Given the description of an element on the screen output the (x, y) to click on. 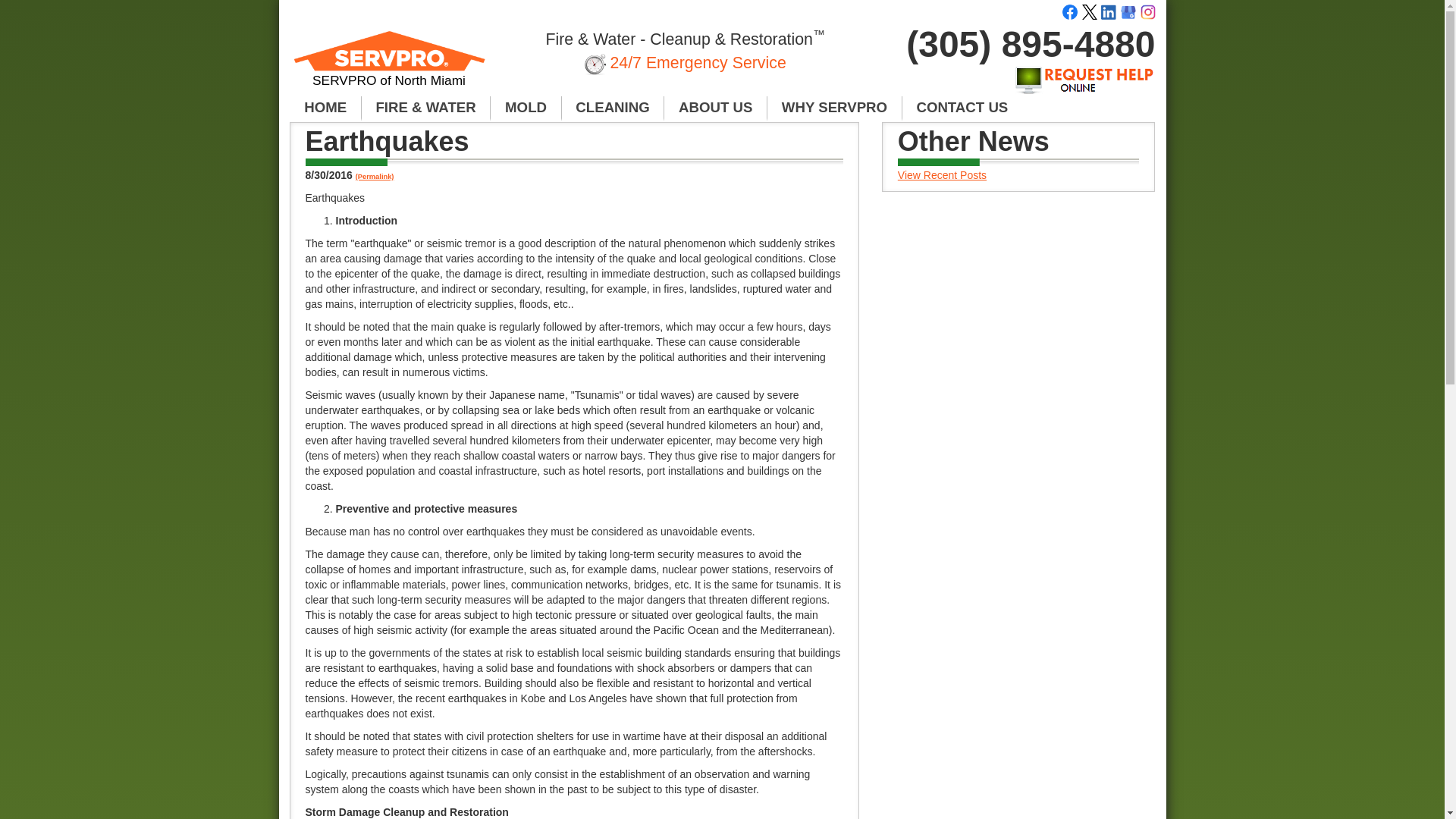
SERVPRO of North Miami (389, 65)
CLEANING (613, 108)
MOLD (525, 108)
HOME (325, 108)
ABOUT US (715, 108)
